Given the description of an element on the screen output the (x, y) to click on. 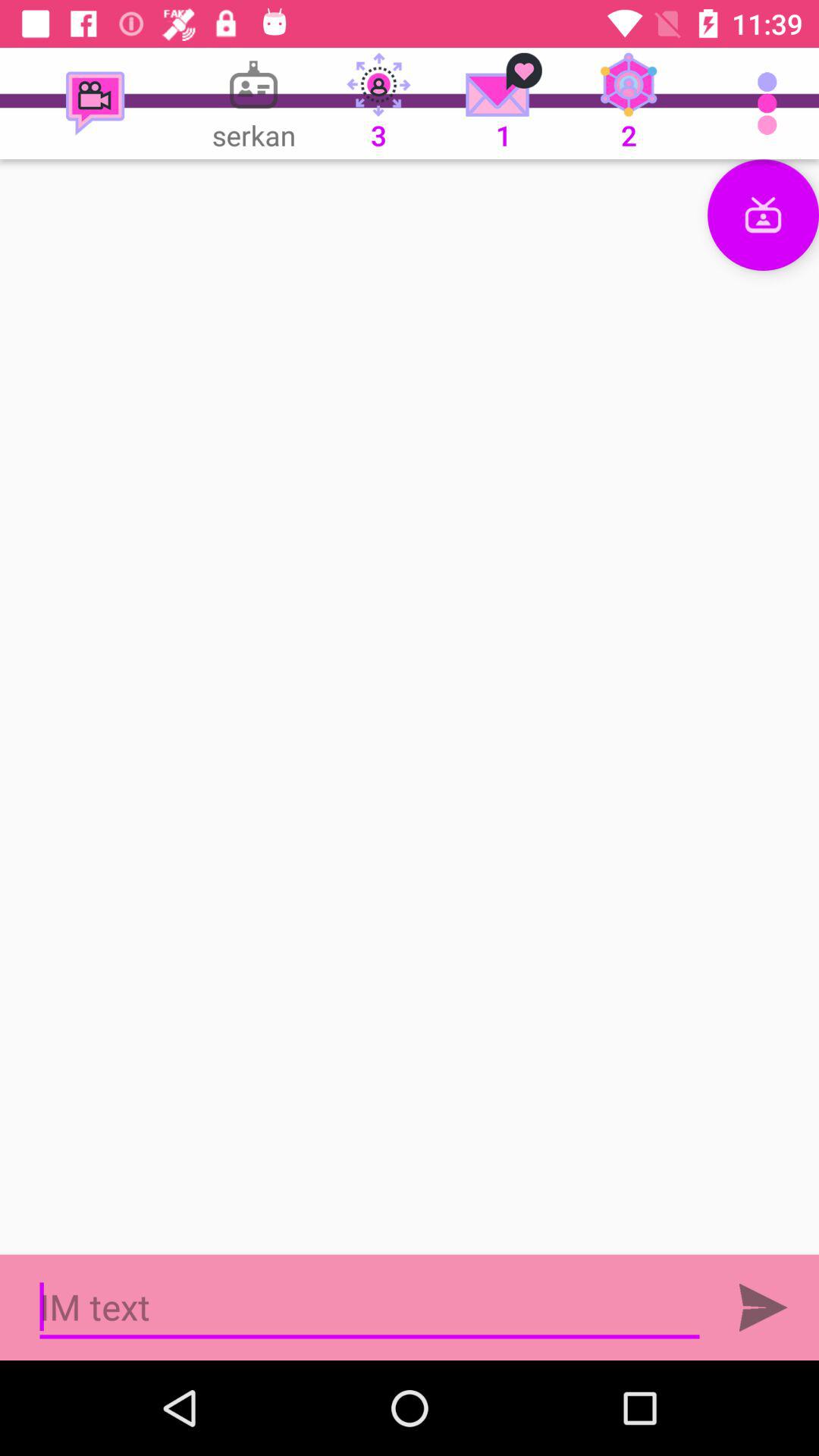
opens text box to message someone (369, 1307)
